Given the description of an element on the screen output the (x, y) to click on. 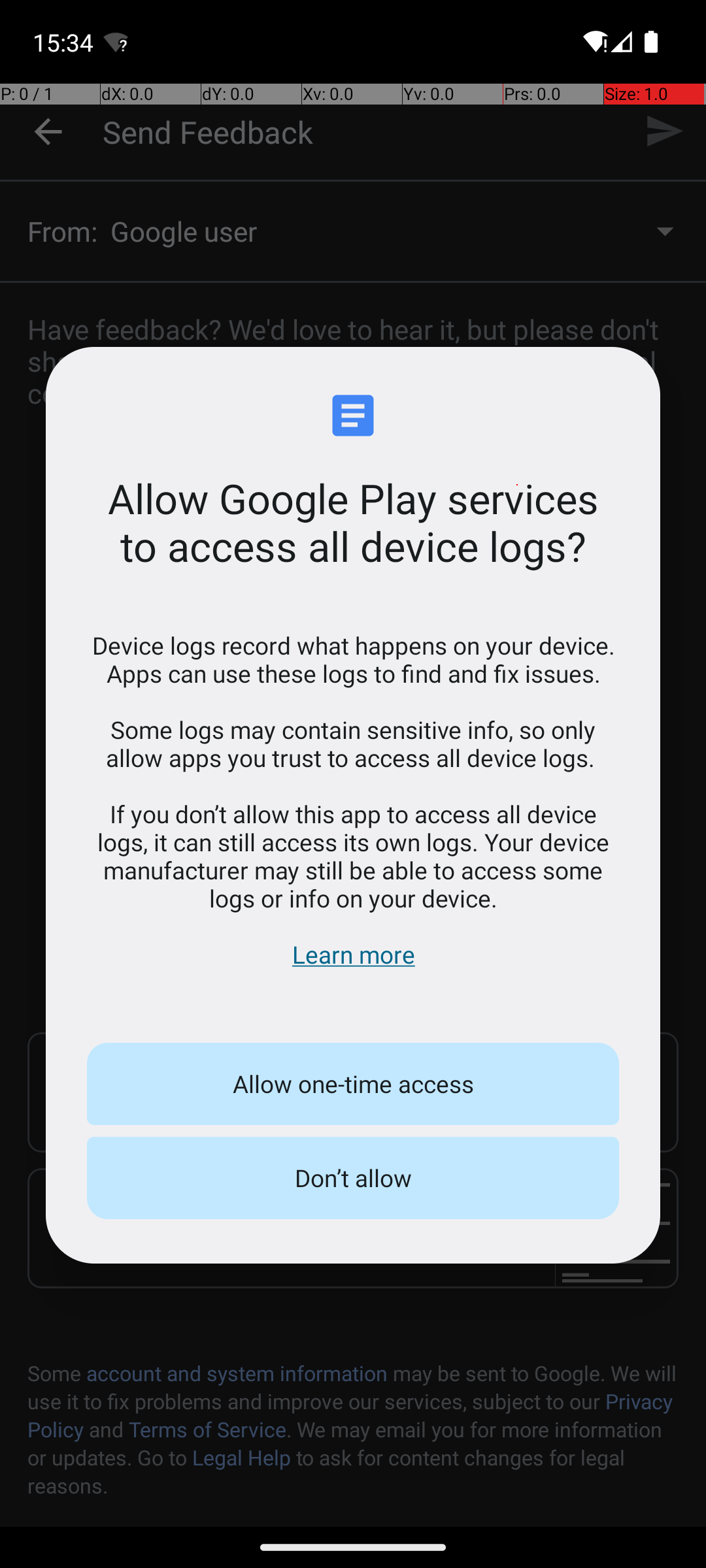
Allow Google Play services to access all device logs? Element type: android.widget.TextView (352, 521)
Device logs record what happens on your device. Apps can use these logs to find and fix issues.

Some logs may contain sensitive info, so only allow apps you trust to access all device logs. 

If you don’t allow this app to access all device logs, it can still access its own logs. Your device manufacturer may still be able to access some logs or info on your device.

Learn more Element type: android.widget.TextView (352, 799)
Allow one-time access Element type: android.widget.Button (352, 1083)
